Given the description of an element on the screen output the (x, y) to click on. 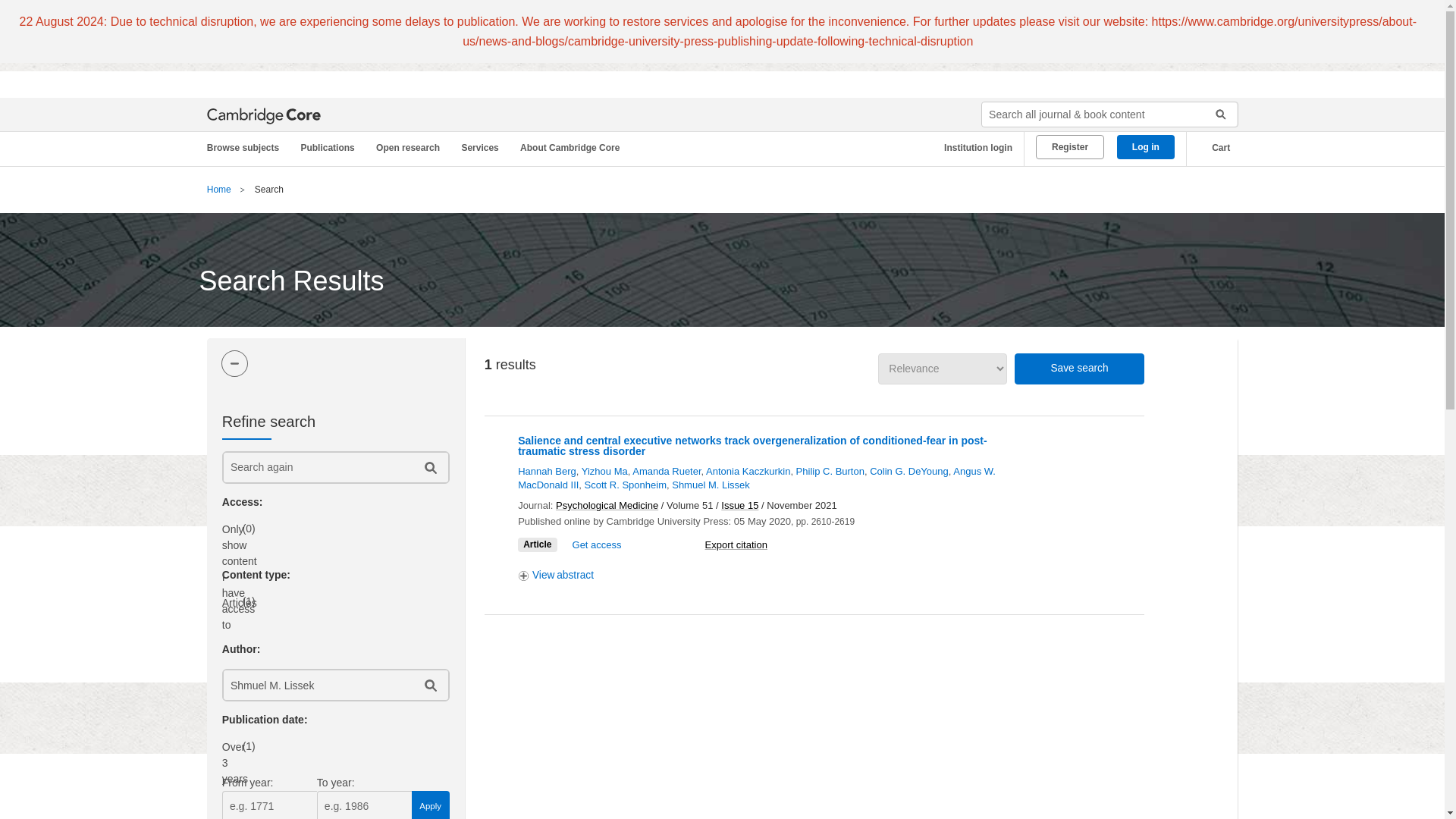
Services (482, 147)
Submit search (1214, 114)
Open research (410, 147)
Publications (330, 147)
Submit refine search (429, 467)
Register (1069, 146)
About Cambridge Core (572, 147)
Shmuel M. Lissek (316, 685)
Institution login (972, 147)
Submit author search (429, 685)
